Given the description of an element on the screen output the (x, y) to click on. 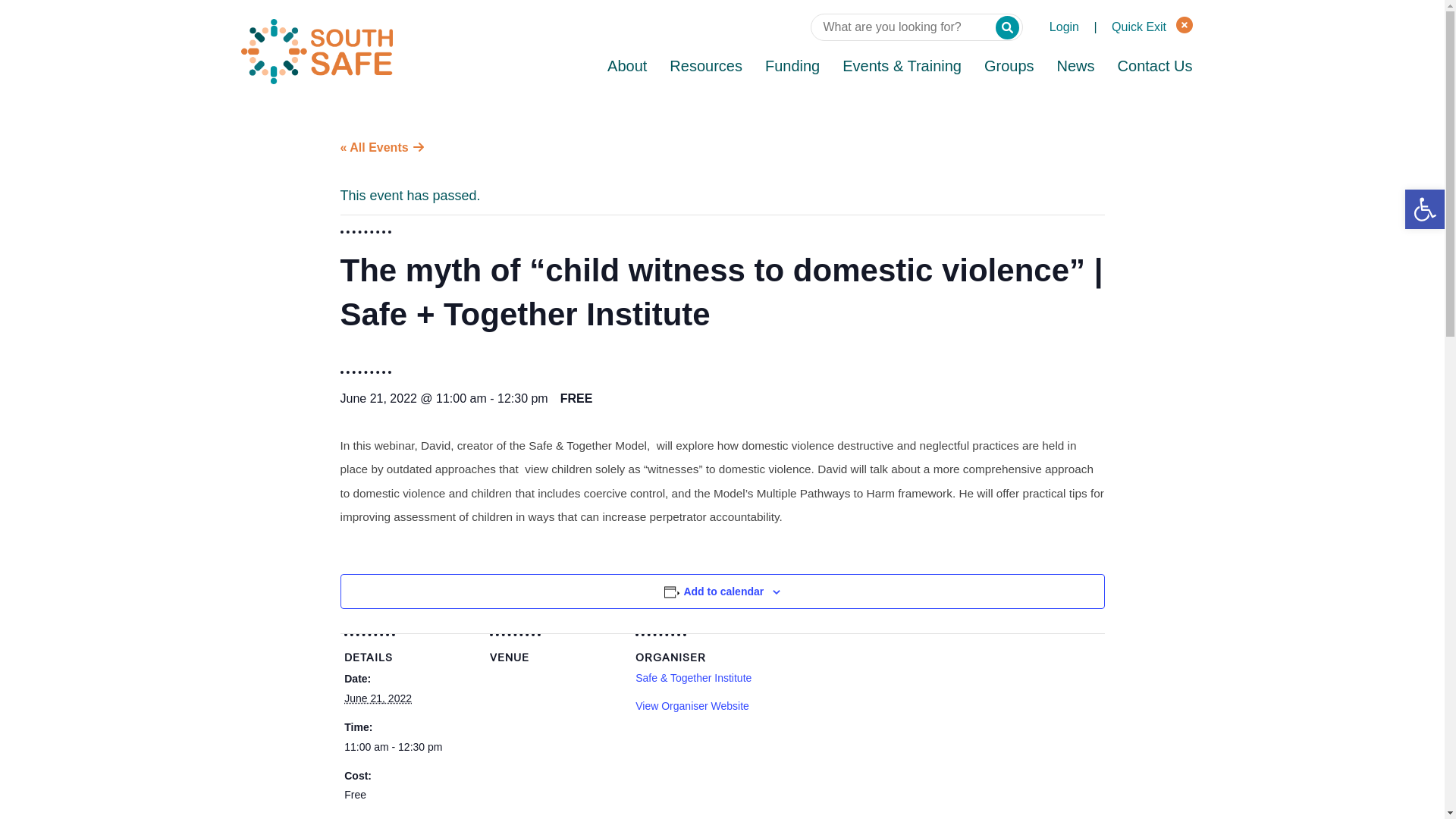
Login Element type: text (1064, 26)
Safe & Together Institute Element type: text (693, 677)
Groups Element type: text (1008, 67)
Accessibility Tools Element type: text (1424, 209)
Quick Exit Element type: text (1151, 26)
News Element type: text (1075, 67)
Contact Us Element type: text (1155, 67)
Add to calendar Element type: text (723, 591)
Funding Element type: text (792, 67)
View Organiser Website Element type: text (692, 705)
Resources Element type: text (705, 67)
About Element type: text (627, 67)
Events & Training Element type: text (901, 67)
